Given the description of an element on the screen output the (x, y) to click on. 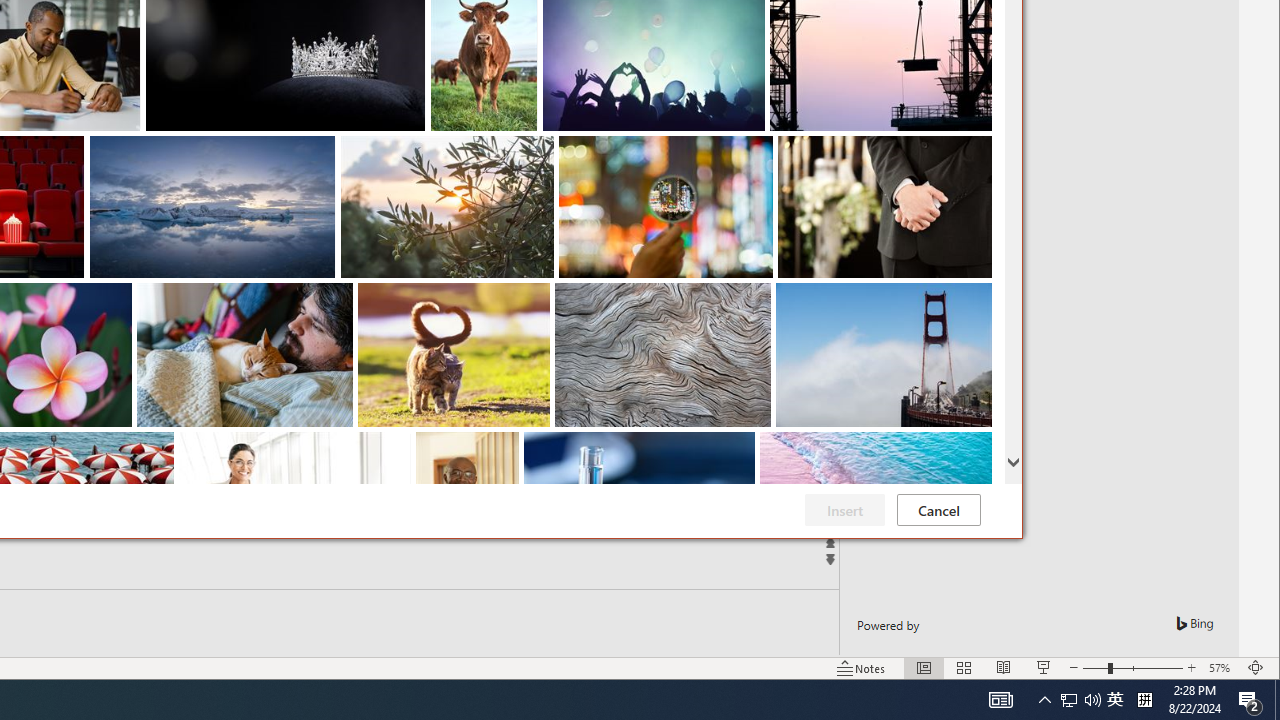
Action Center, 2 new notifications (1250, 699)
Thumbnail (977, 447)
